Given the description of an element on the screen output the (x, y) to click on. 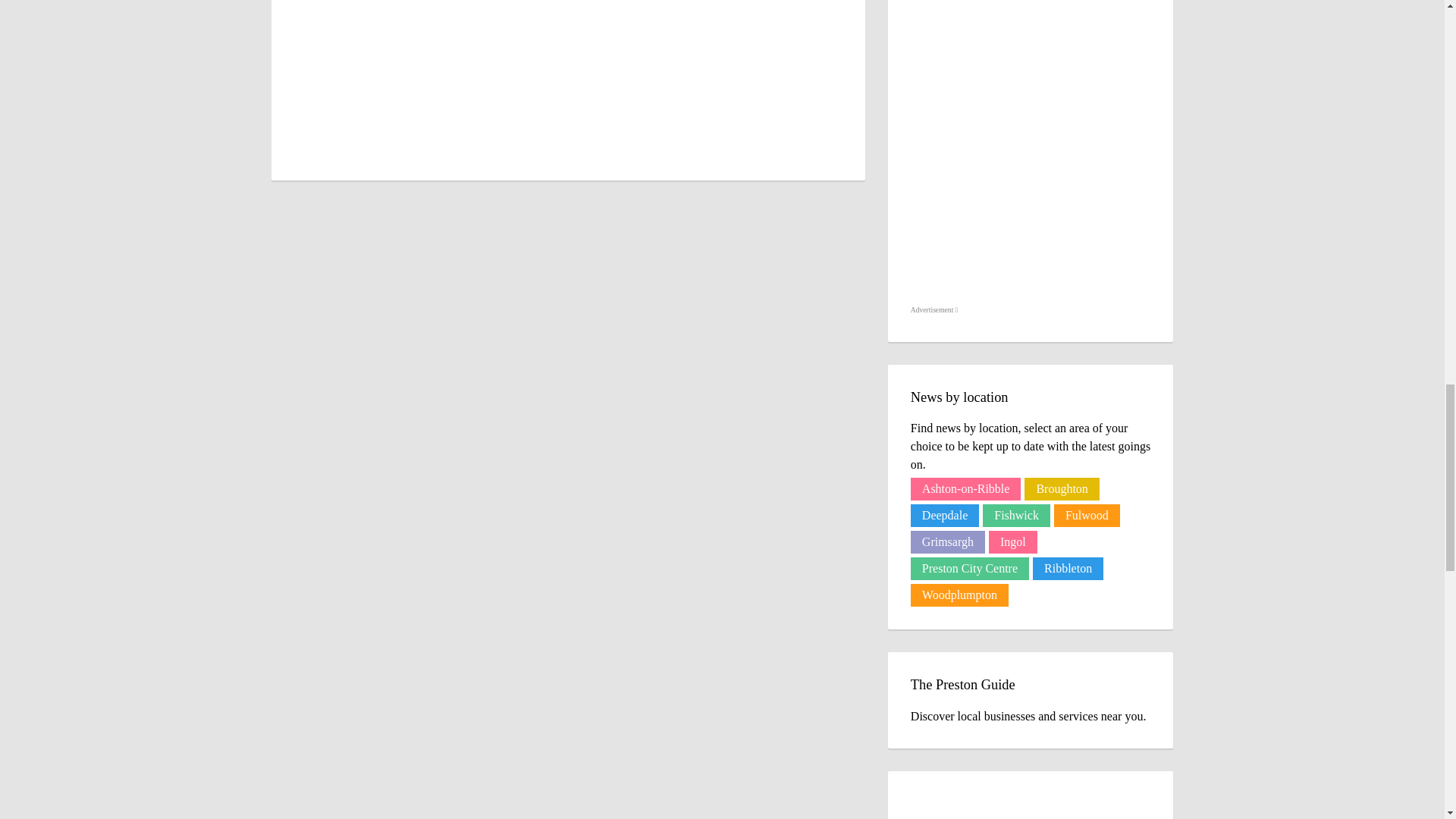
Advertisement (934, 310)
